Given the description of an element on the screen output the (x, y) to click on. 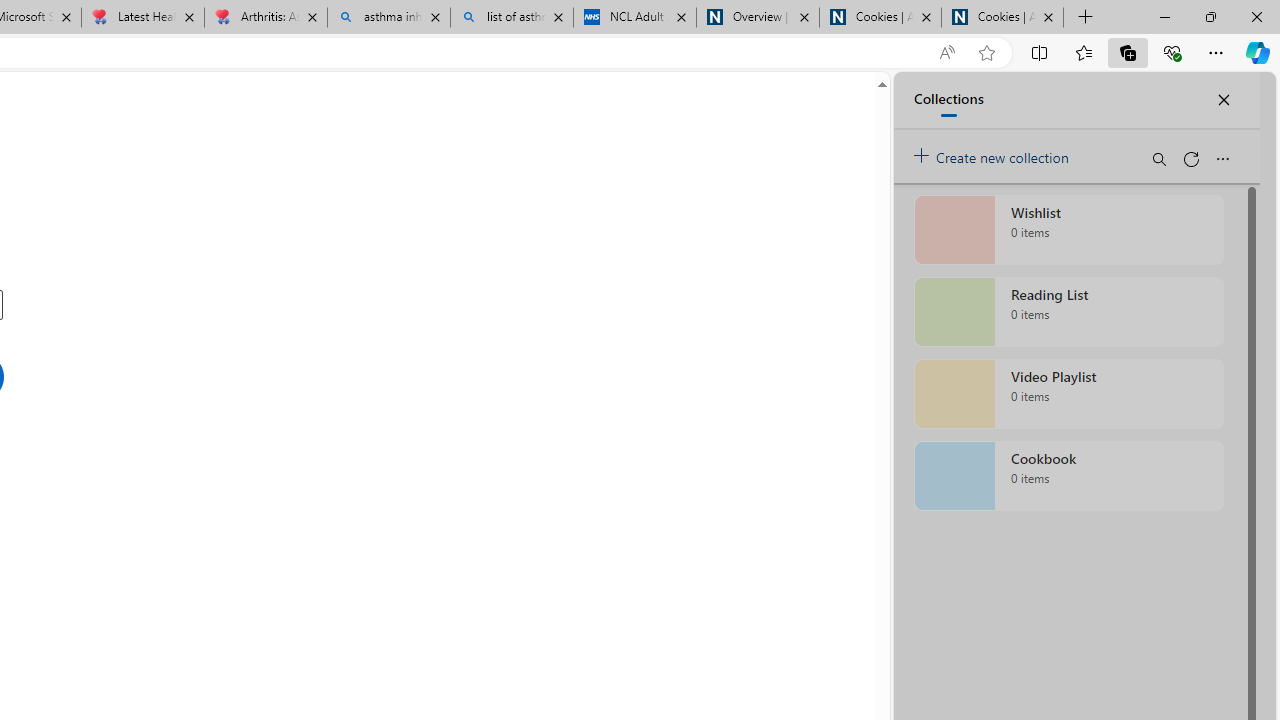
asthma inhaler - Search (388, 17)
